Given the description of an element on the screen output the (x, y) to click on. 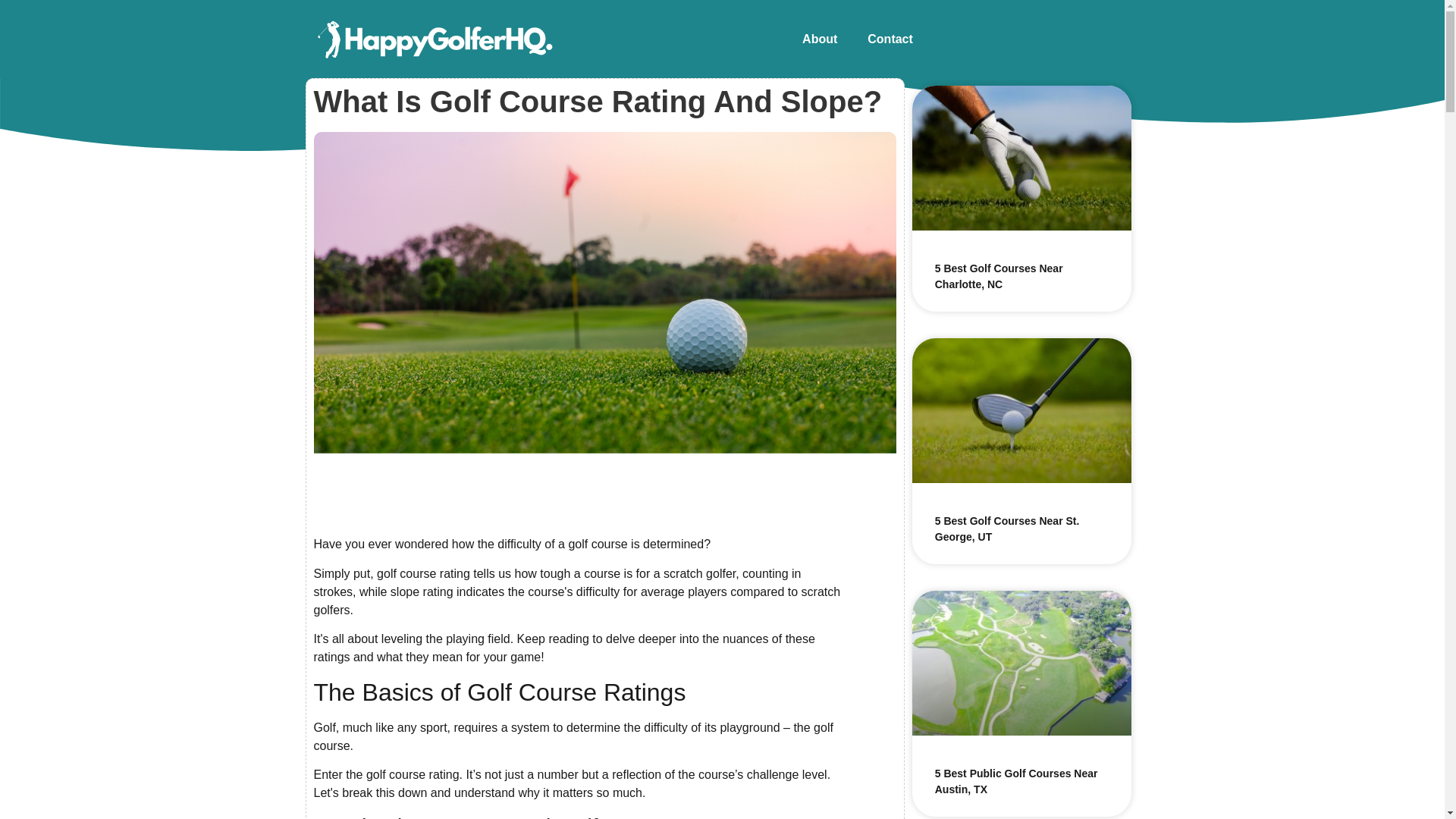
Contact (889, 39)
About (819, 39)
5 Best Golf Courses Near Charlotte, NC (998, 276)
5 Best Golf Courses Near St. George, UT (1007, 528)
5 Best Public Golf Courses Near Austin, TX (1015, 781)
